Given the description of an element on the screen output the (x, y) to click on. 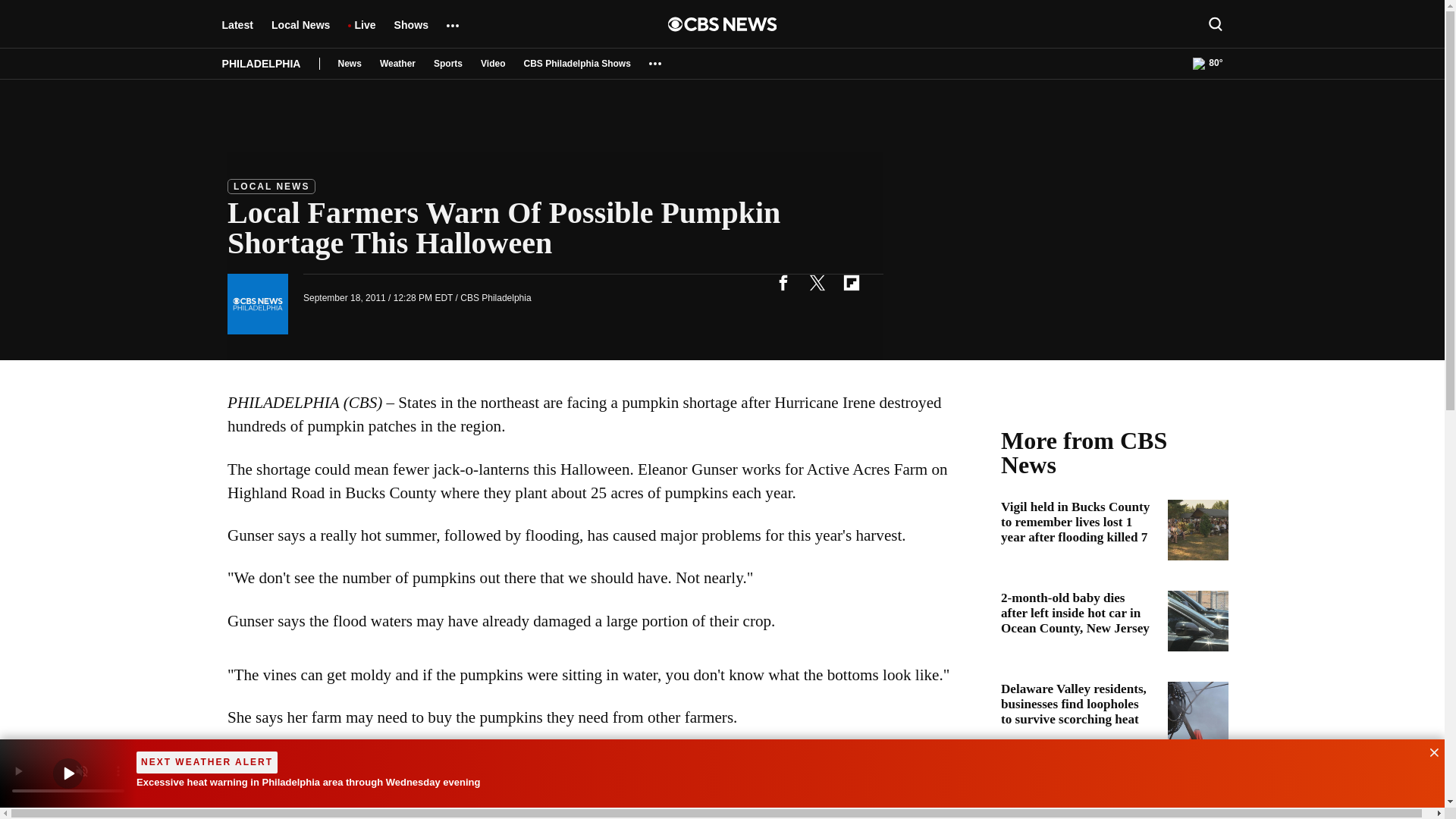
Watch CBS News (68, 773)
Latest (236, 31)
Click to hide breaking news banner (1429, 750)
Live (364, 31)
flipboard (850, 282)
facebook (782, 282)
Local News (300, 31)
twitter (816, 282)
